Given the description of an element on the screen output the (x, y) to click on. 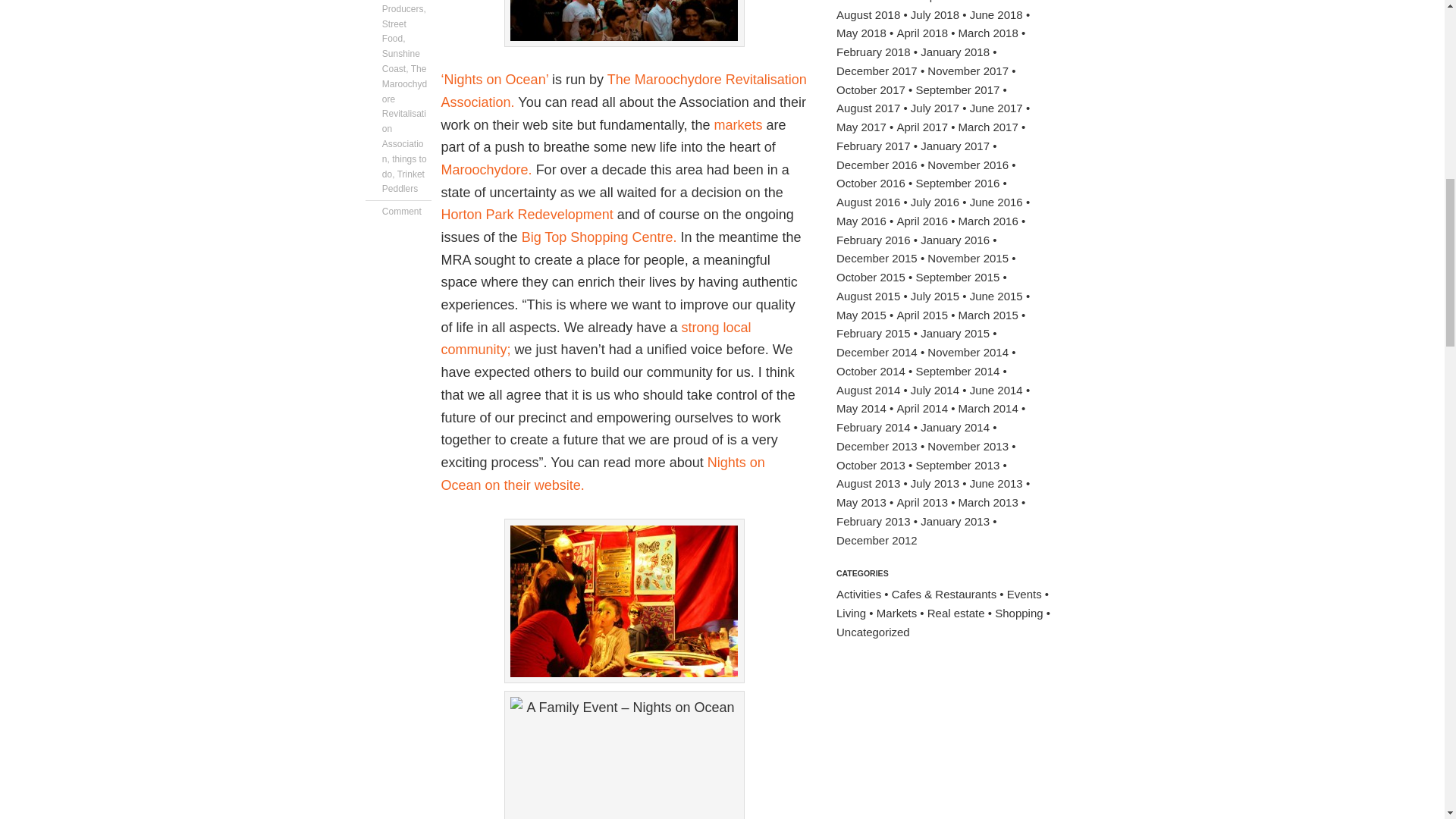
Producers (402, 9)
Sunshine Coast (400, 61)
Comment (401, 211)
things to do (403, 166)
Street Food (393, 31)
Trinket Peddlers (403, 181)
